Given the description of an element on the screen output the (x, y) to click on. 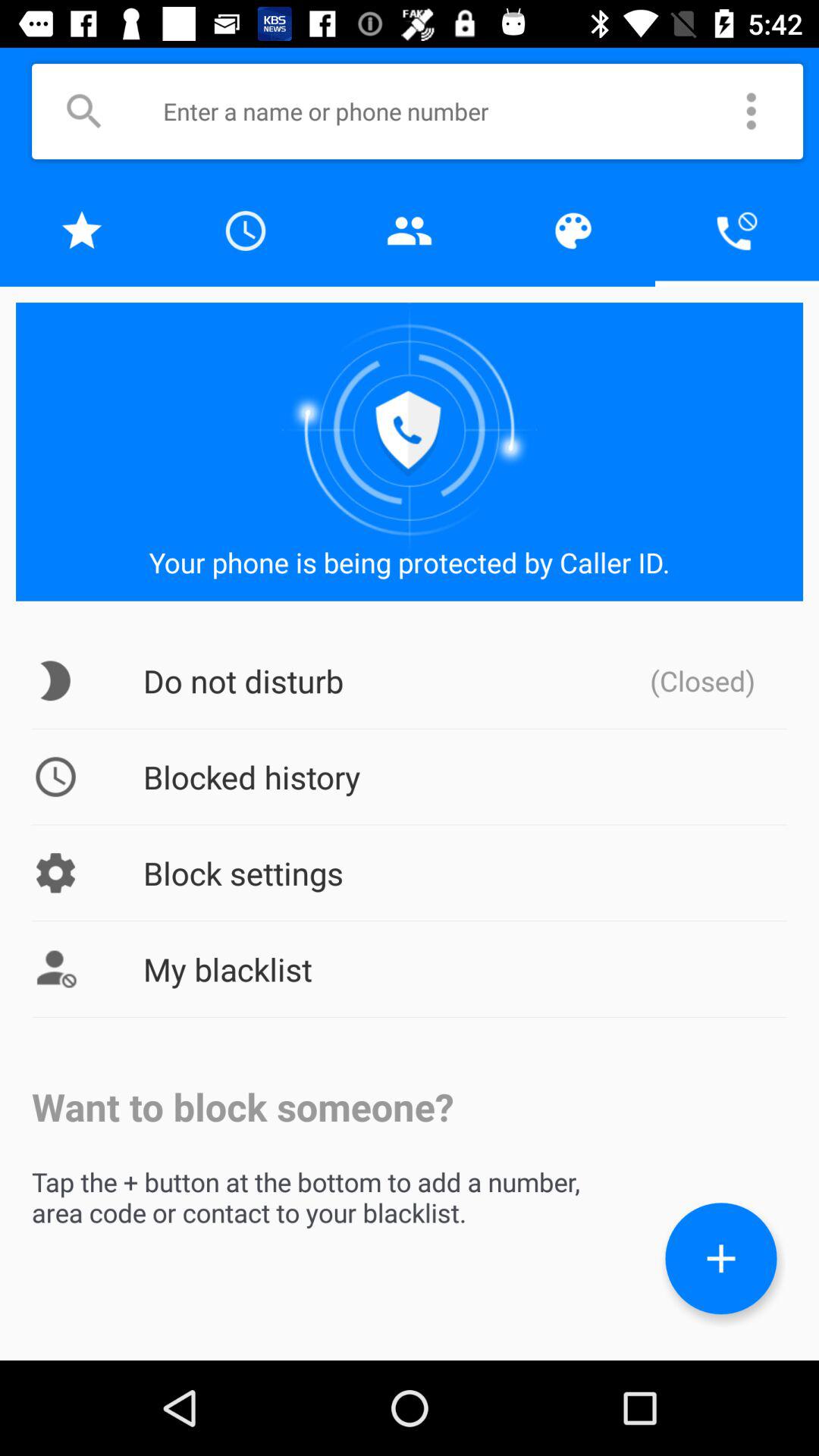
go to search (83, 111)
